Given the description of an element on the screen output the (x, y) to click on. 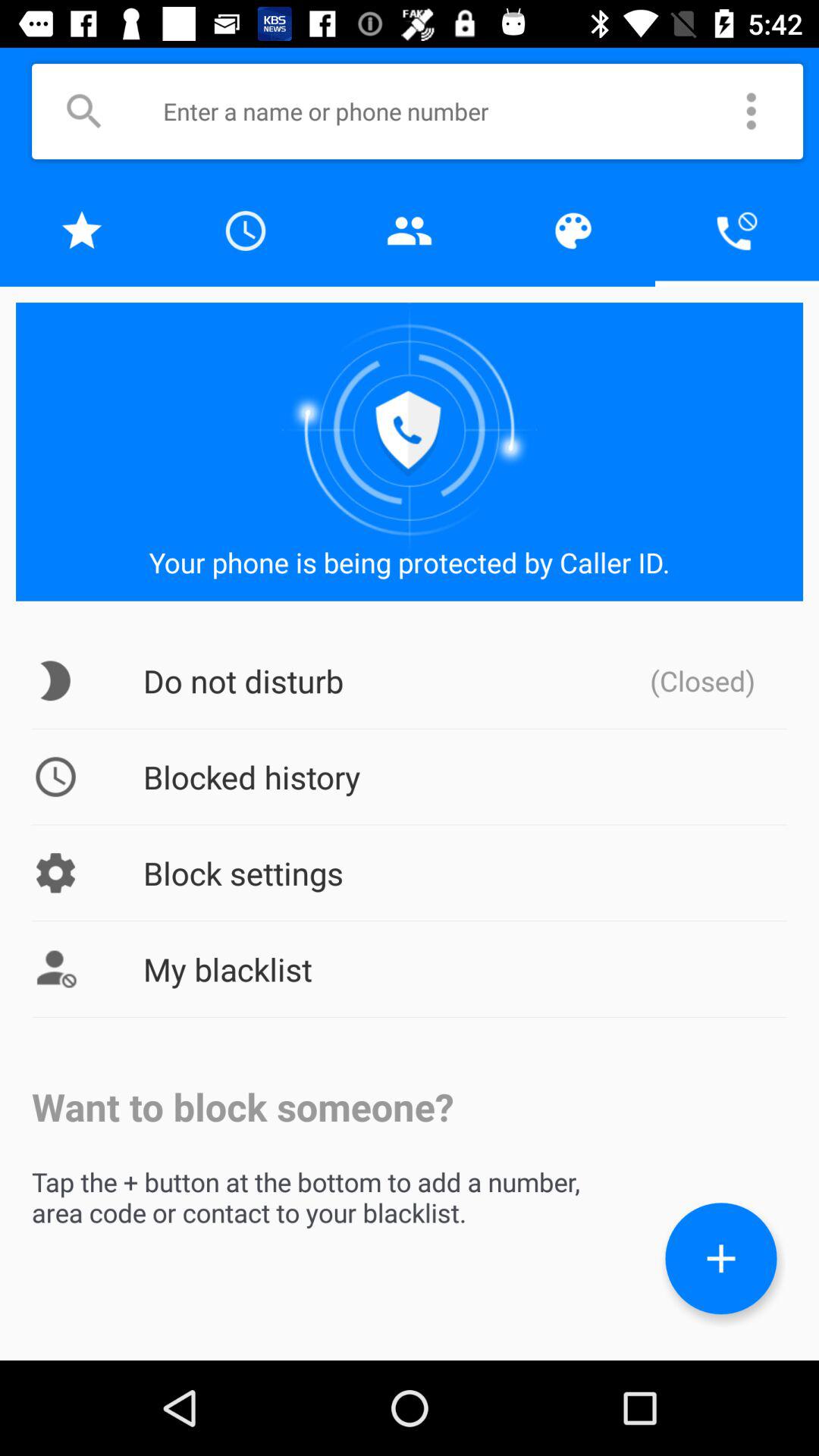
go to search (83, 111)
